Given the description of an element on the screen output the (x, y) to click on. 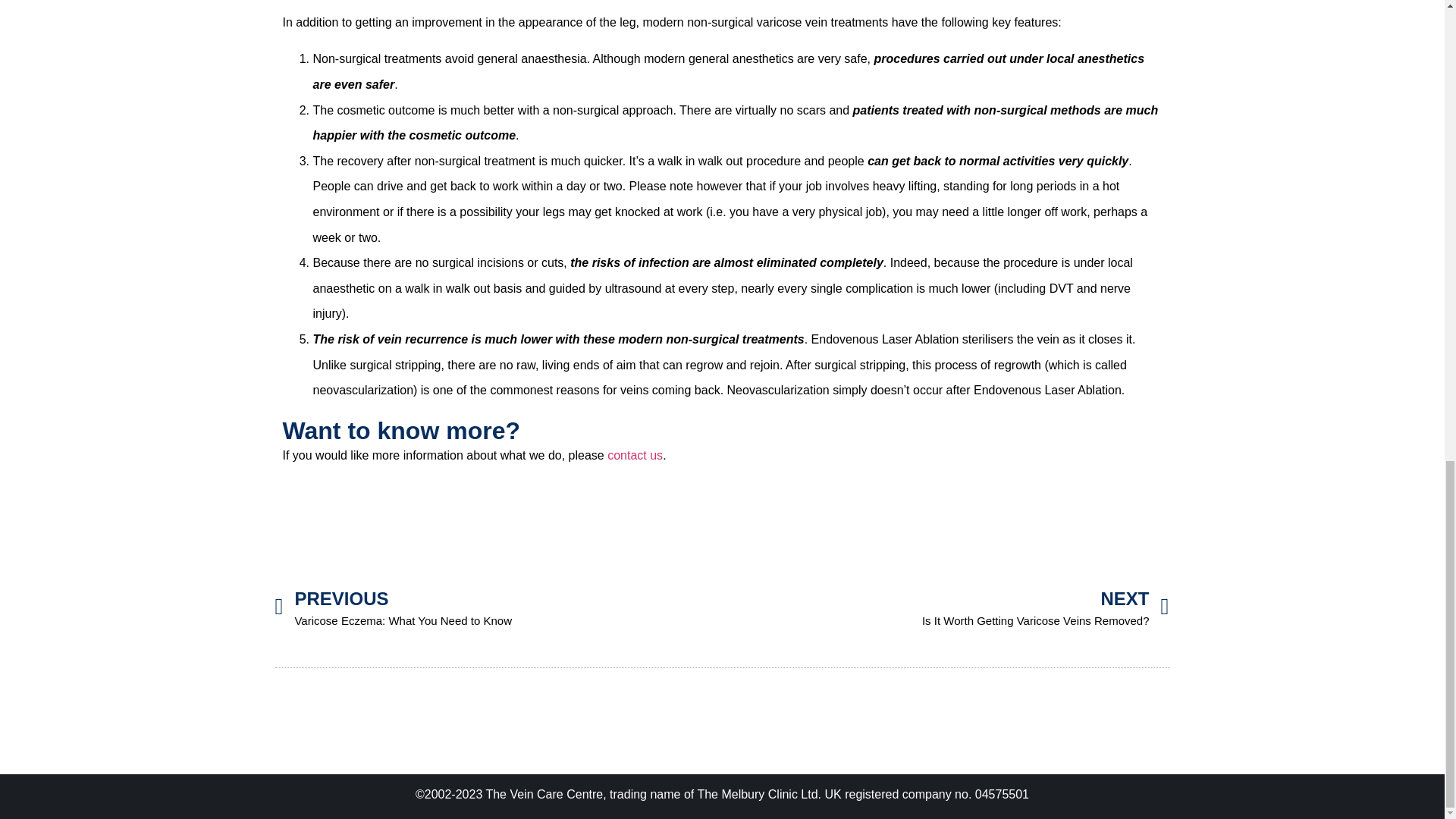
contact us (634, 454)
